Given the description of an element on the screen output the (x, y) to click on. 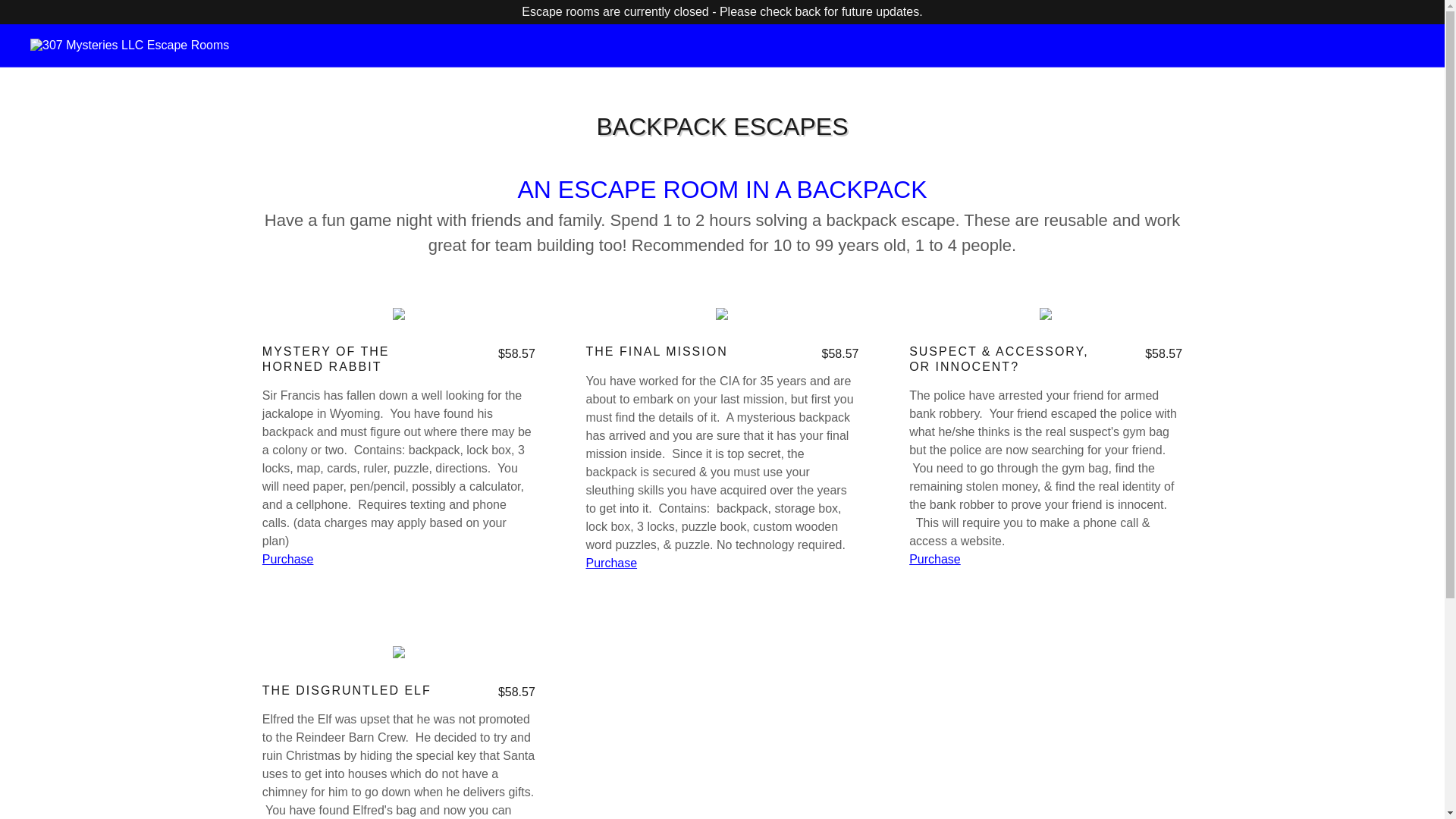
Purchase Element type: text (611, 562)
Purchase Element type: text (287, 558)
307 Mysteries LLC
Escape Rooms Element type: hover (129, 44)
Purchase Element type: text (934, 558)
